Given the description of an element on the screen output the (x, y) to click on. 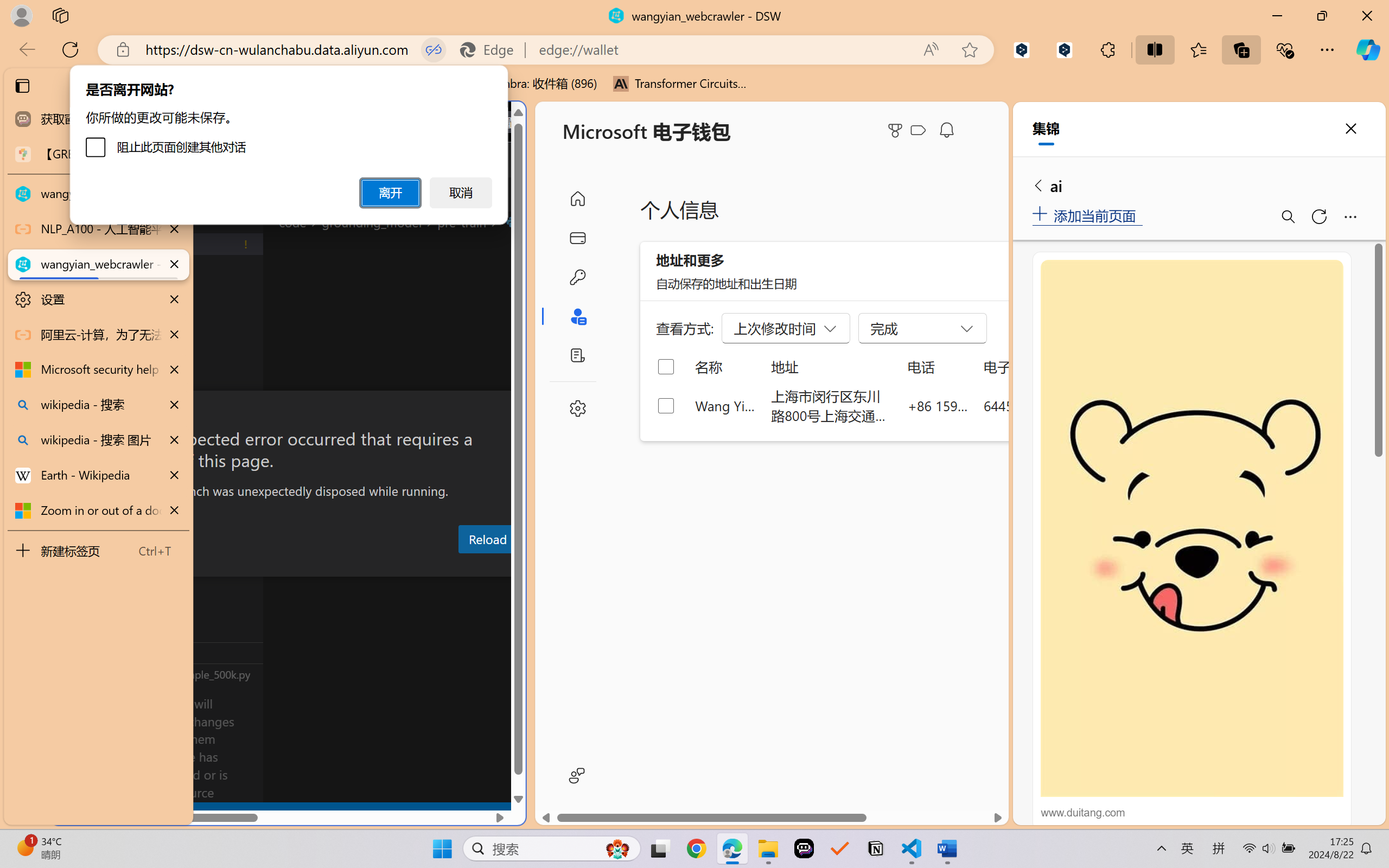
Manage (73, 755)
644553698@qq.com (1043, 405)
